Given the description of an element on the screen output the (x, y) to click on. 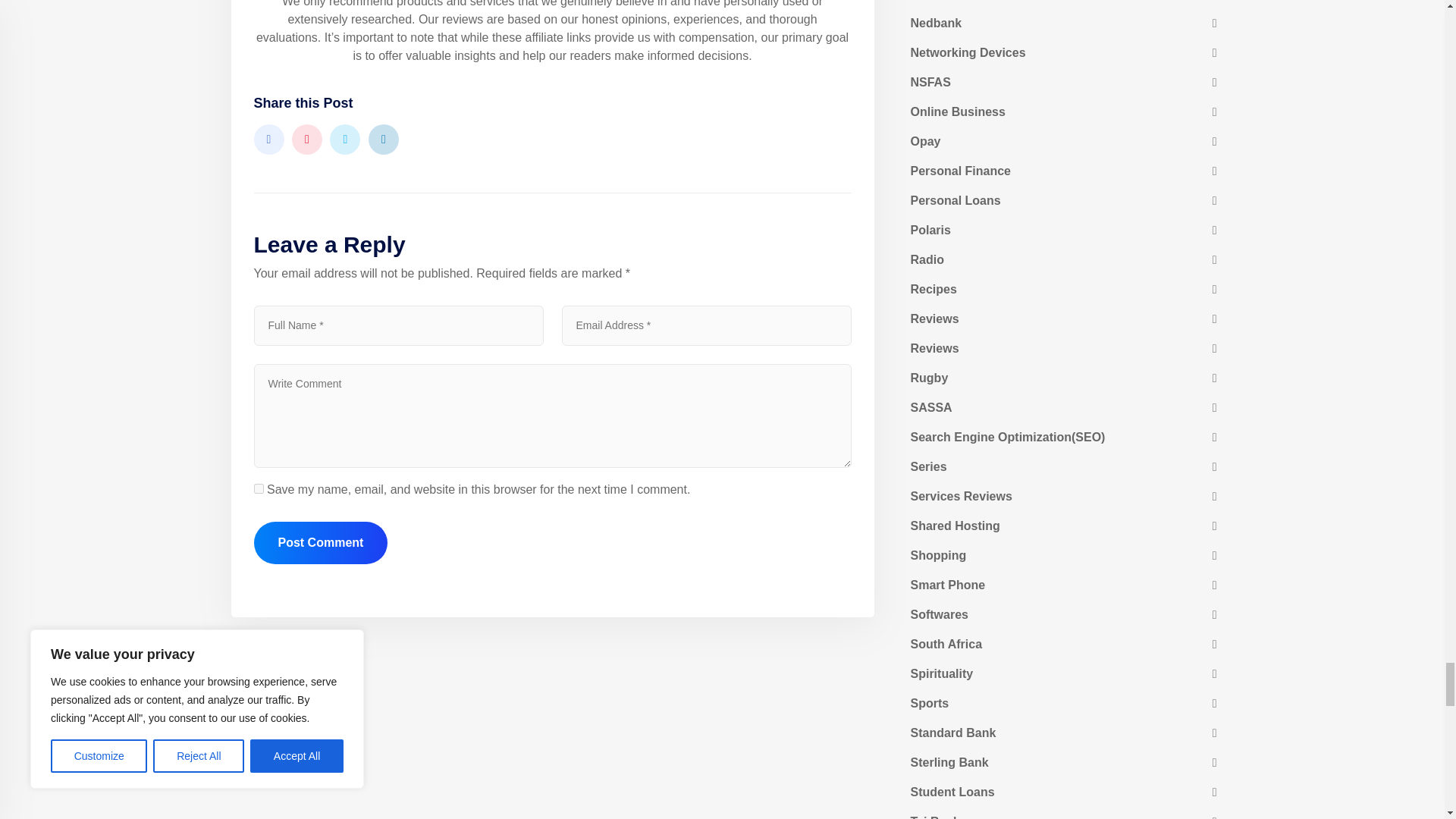
yes (258, 488)
Post Comment (320, 542)
